Given the description of an element on the screen output the (x, y) to click on. 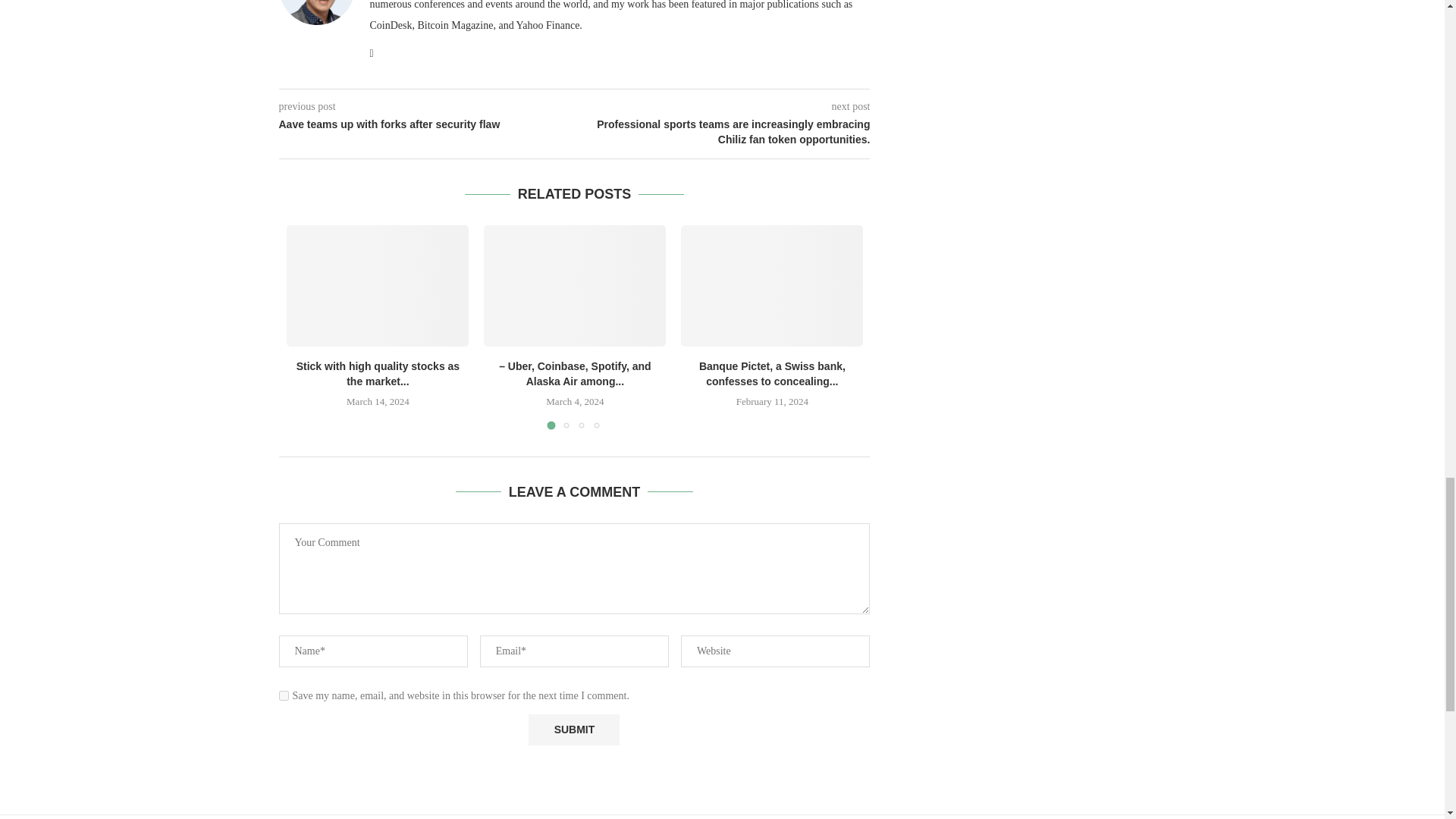
yes (283, 696)
Submit (574, 729)
Aave teams up with forks after security flaw (427, 124)
